Given the description of an element on the screen output the (x, y) to click on. 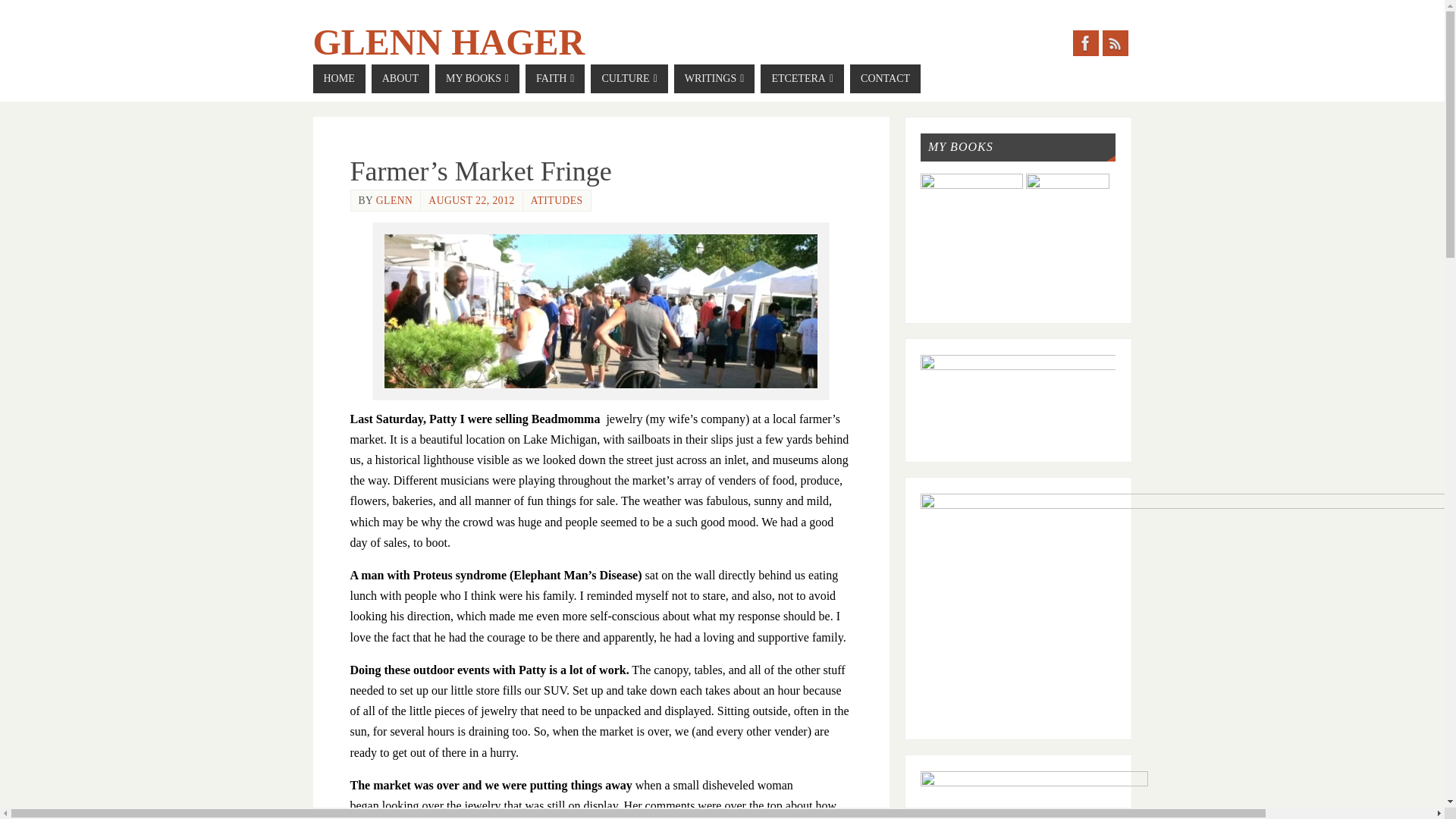
RSS (1115, 43)
WRITINGS (714, 78)
Glenn Hager (449, 42)
CULTURE (628, 78)
GLENN HAGER (449, 42)
CONTACT (885, 78)
Facebook (1084, 43)
Open Web Site (459, 574)
ABOUT (400, 78)
View all posts by Glenn (394, 200)
